Given the description of an element on the screen output the (x, y) to click on. 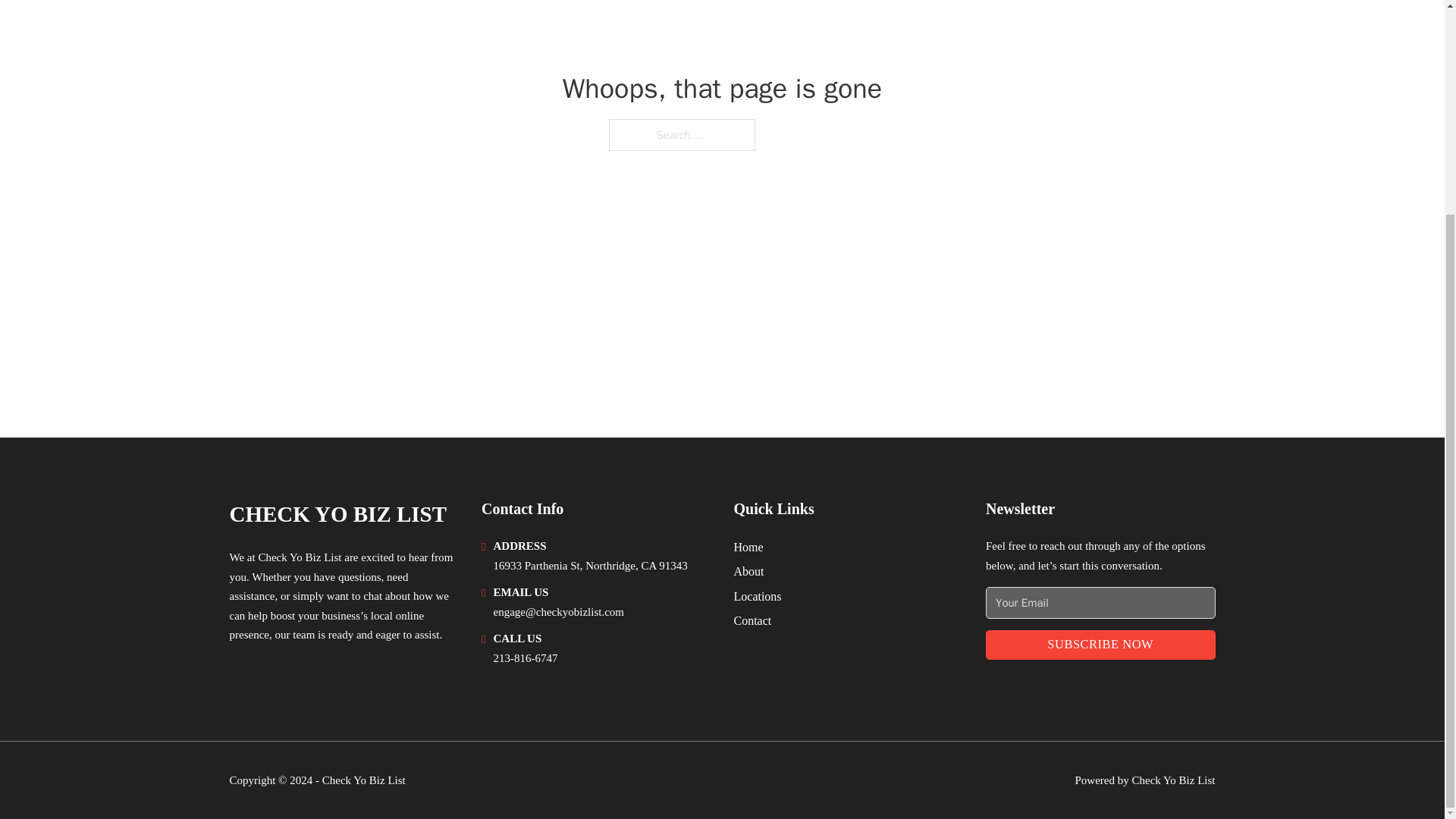
SUBSCRIBE NOW (1100, 644)
About (748, 571)
Locations (757, 596)
Home (747, 547)
Contact (752, 620)
CHECK YO BIZ LIST (337, 514)
